Given the description of an element on the screen output the (x, y) to click on. 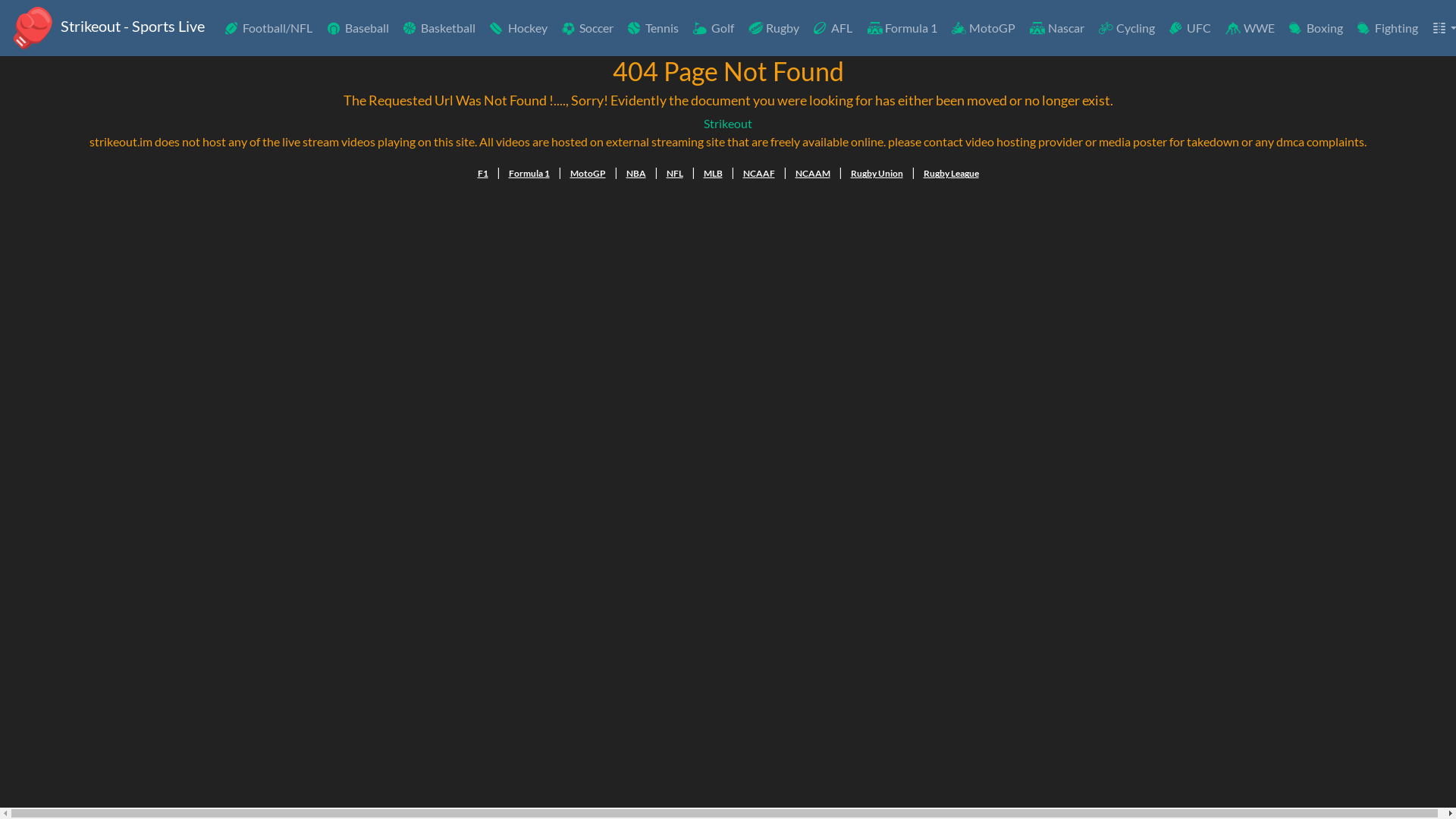
NCAAM Element type: text (811, 173)
Formula 1 Element type: text (528, 173)
Soccer Element type: text (586, 27)
Boxing Element type: text (1314, 27)
Nascar Element type: text (1055, 27)
NFL Element type: text (673, 173)
Golf Element type: text (711, 27)
MotoGP Element type: text (587, 173)
Hockey Element type: text (516, 27)
NCAAF Element type: text (759, 173)
Tennis Element type: text (651, 27)
Strikeout Element type: text (727, 123)
F1 Element type: text (482, 173)
Formula 1 Element type: text (900, 27)
Basketball Element type: text (438, 27)
WWE Element type: text (1248, 27)
Strikeout - Sports Live Element type: text (106, 28)
Fighting Element type: text (1386, 27)
AFL Element type: text (831, 27)
MLB Element type: text (712, 173)
Cycling Element type: text (1125, 27)
Rugby Union Element type: text (876, 173)
Baseball Element type: text (356, 27)
UFC Element type: text (1189, 27)
Football/NFL Element type: text (267, 27)
Rugby League Element type: text (951, 173)
Rugby Element type: text (772, 27)
NBA Element type: text (636, 173)
MotoGP Element type: text (982, 27)
